Given the description of an element on the screen output the (x, y) to click on. 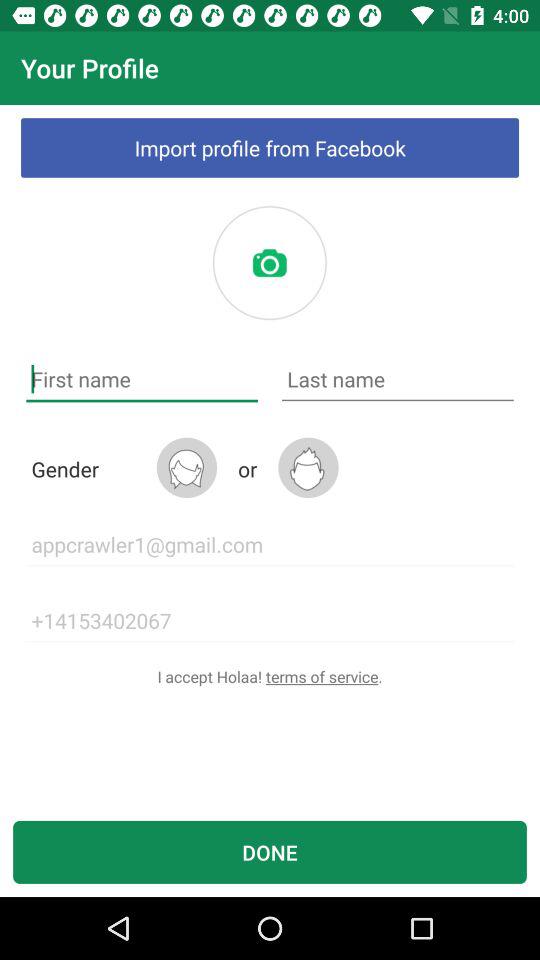
flip to import profile from icon (270, 147)
